Given the description of an element on the screen output the (x, y) to click on. 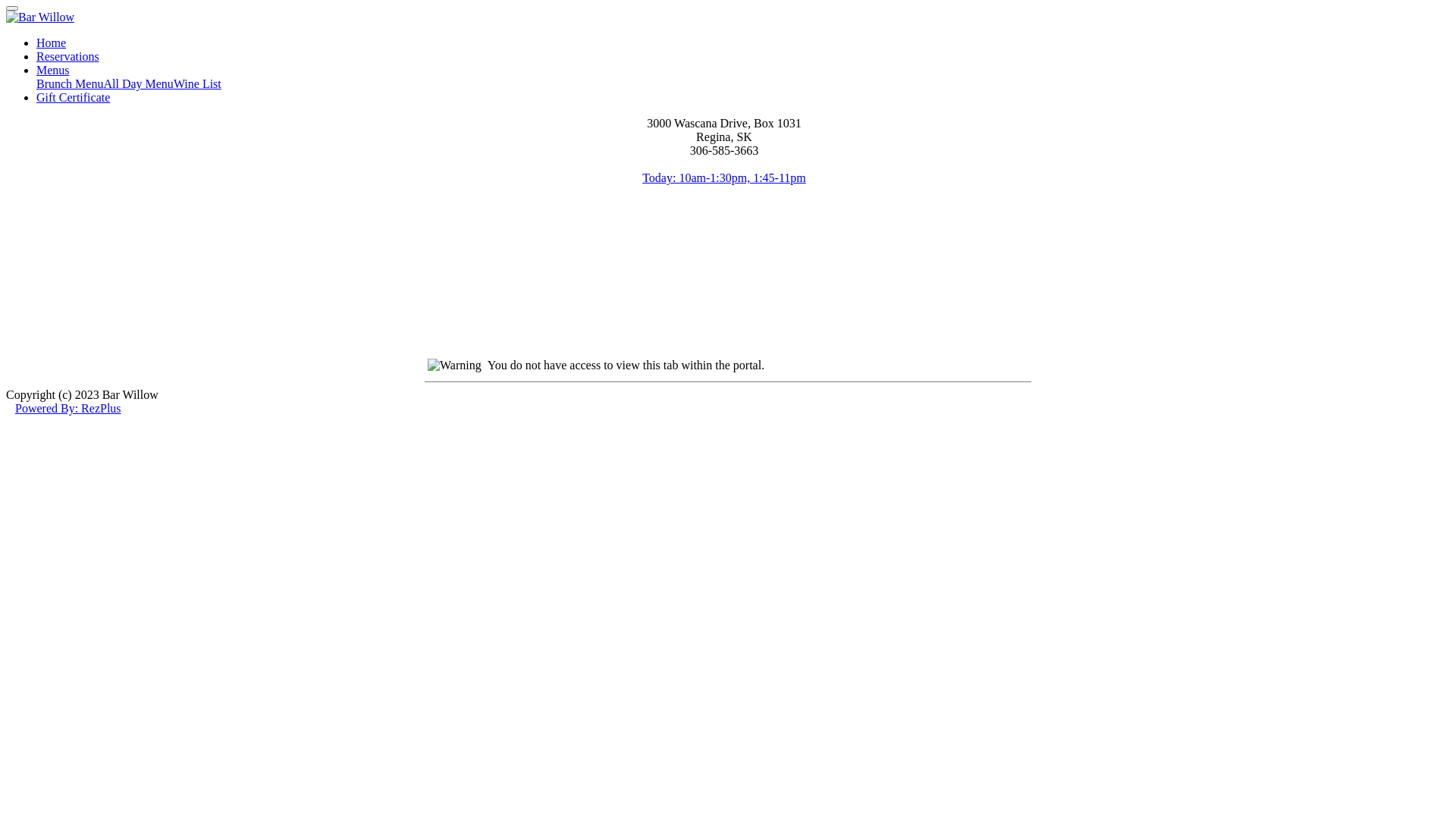
Warning Element type: hover (454, 365)
Reservations Element type: text (67, 56)
RezPlus Element type: text (100, 407)
Today: 10am-1:30pm, 1:45-11pm Element type: text (724, 177)
Wine List Element type: text (197, 83)
Brunch Menu Element type: text (69, 83)
Powered By: Element type: text (48, 407)
Home Element type: text (50, 42)
Menus Element type: text (52, 69)
All Day Menu Element type: text (137, 83)
Gift Certificate Element type: text (72, 97)
Bar Willow Element type: hover (40, 16)
